Given the description of an element on the screen output the (x, y) to click on. 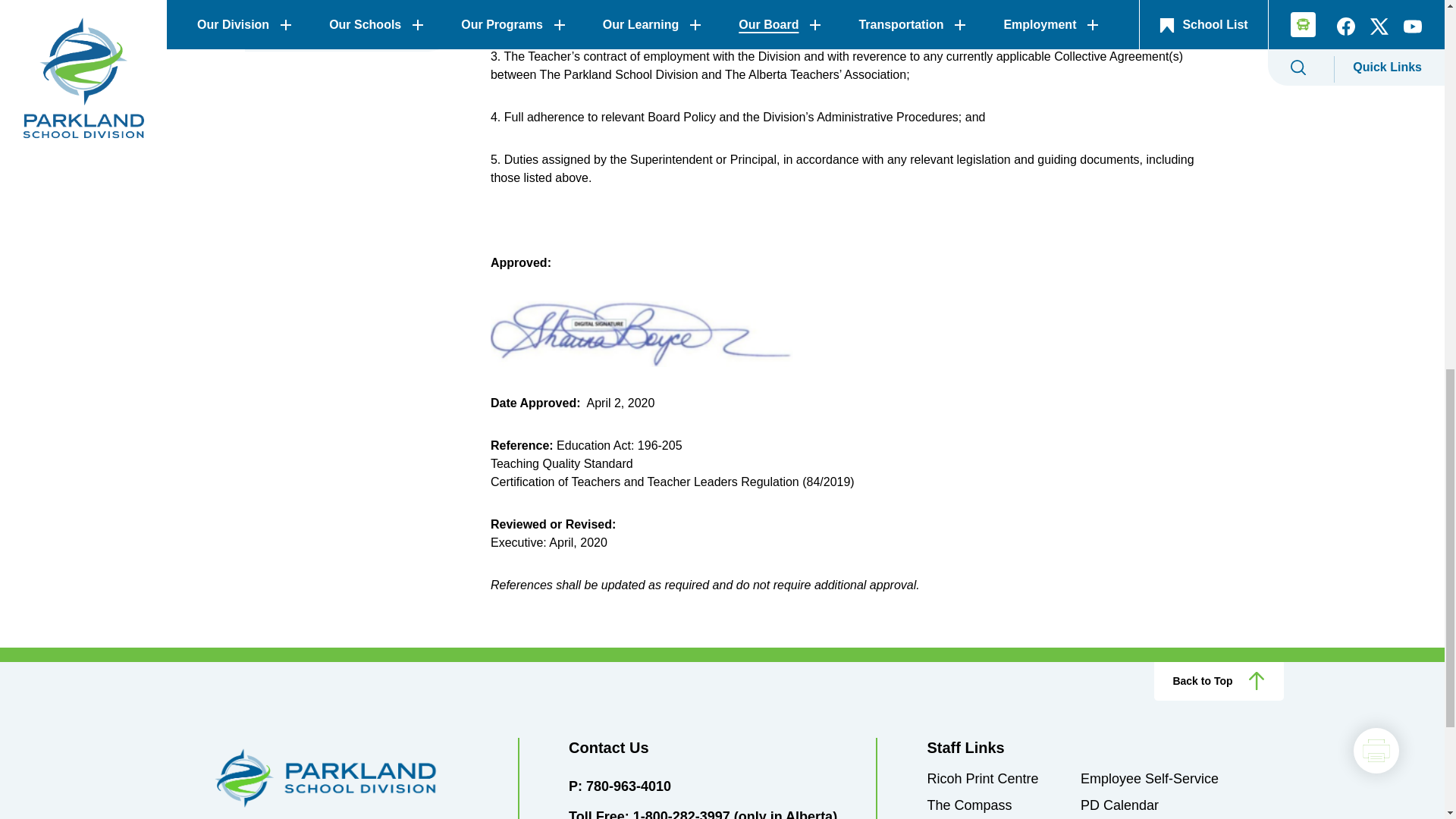
Ricoh Print Centre (982, 778)
Parkland School Division (348, 778)
Employee Self-Service (1149, 778)
The Compass (968, 805)
